Given the description of an element on the screen output the (x, y) to click on. 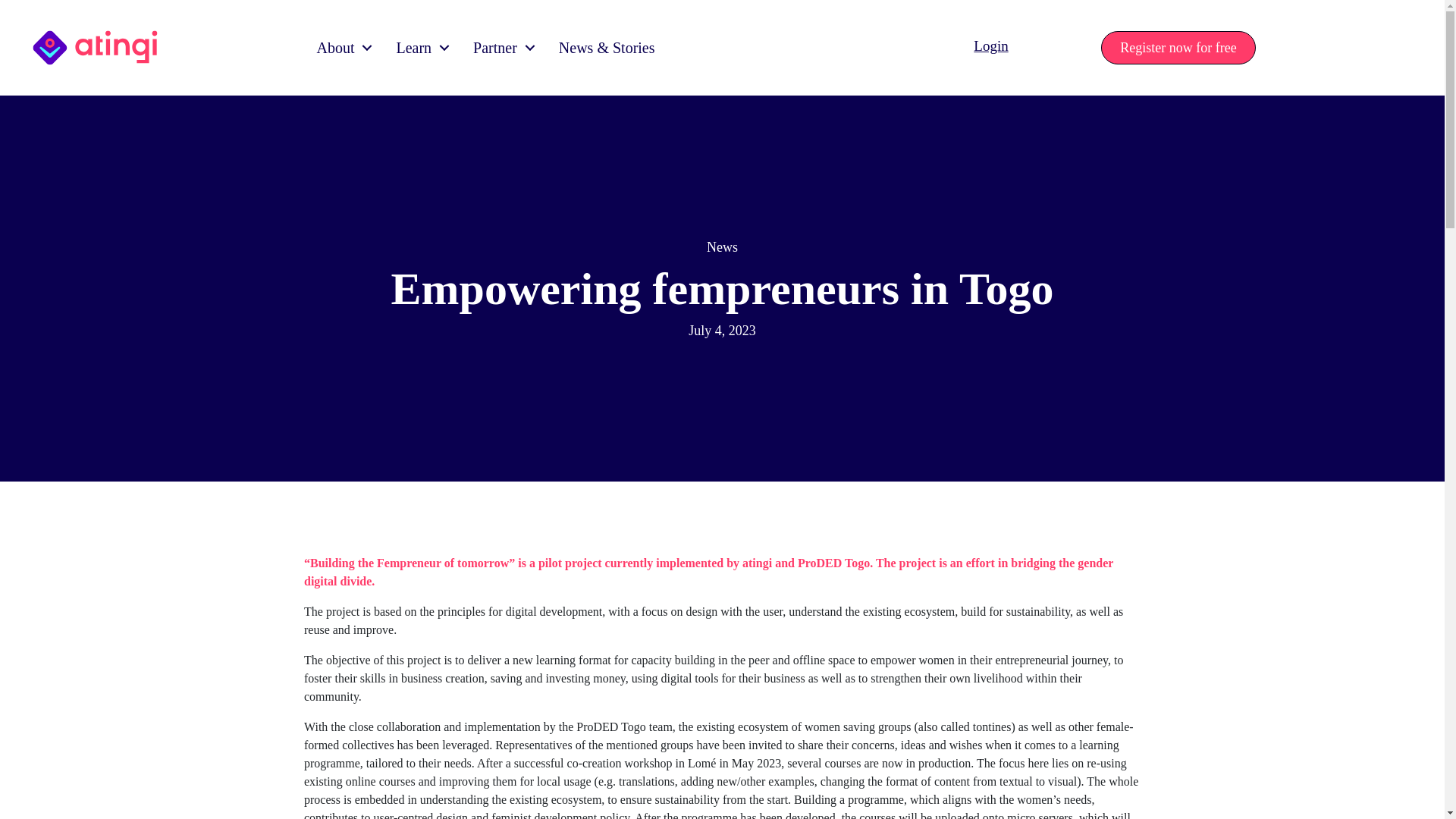
About (340, 47)
Login (990, 45)
Learn (418, 47)
Register now for free (1177, 47)
Partner (500, 47)
atingi-full-colour-logo (95, 47)
